Given the description of an element on the screen output the (x, y) to click on. 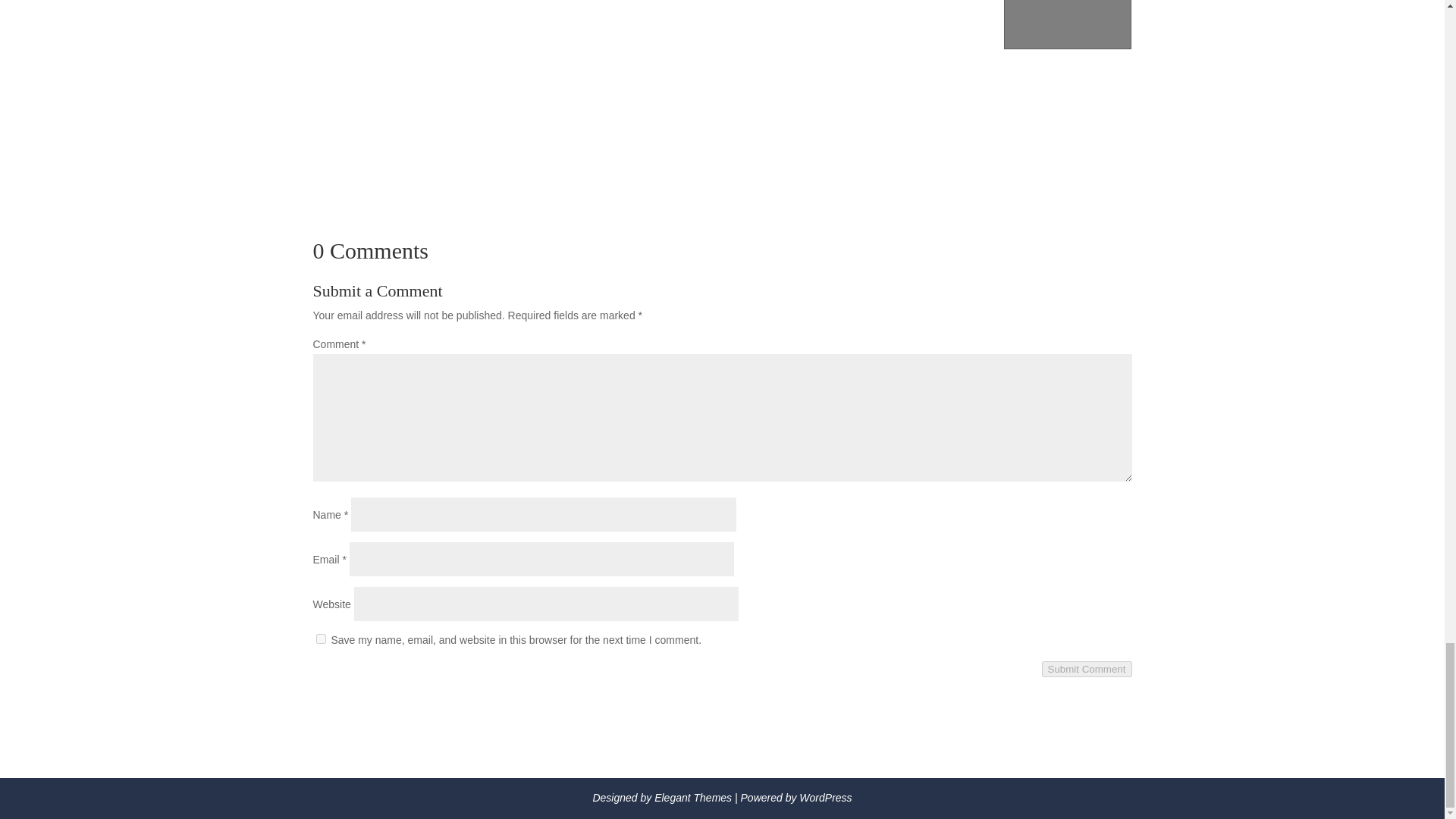
Premium WordPress Themes (692, 797)
yes (319, 638)
